Given the description of an element on the screen output the (x, y) to click on. 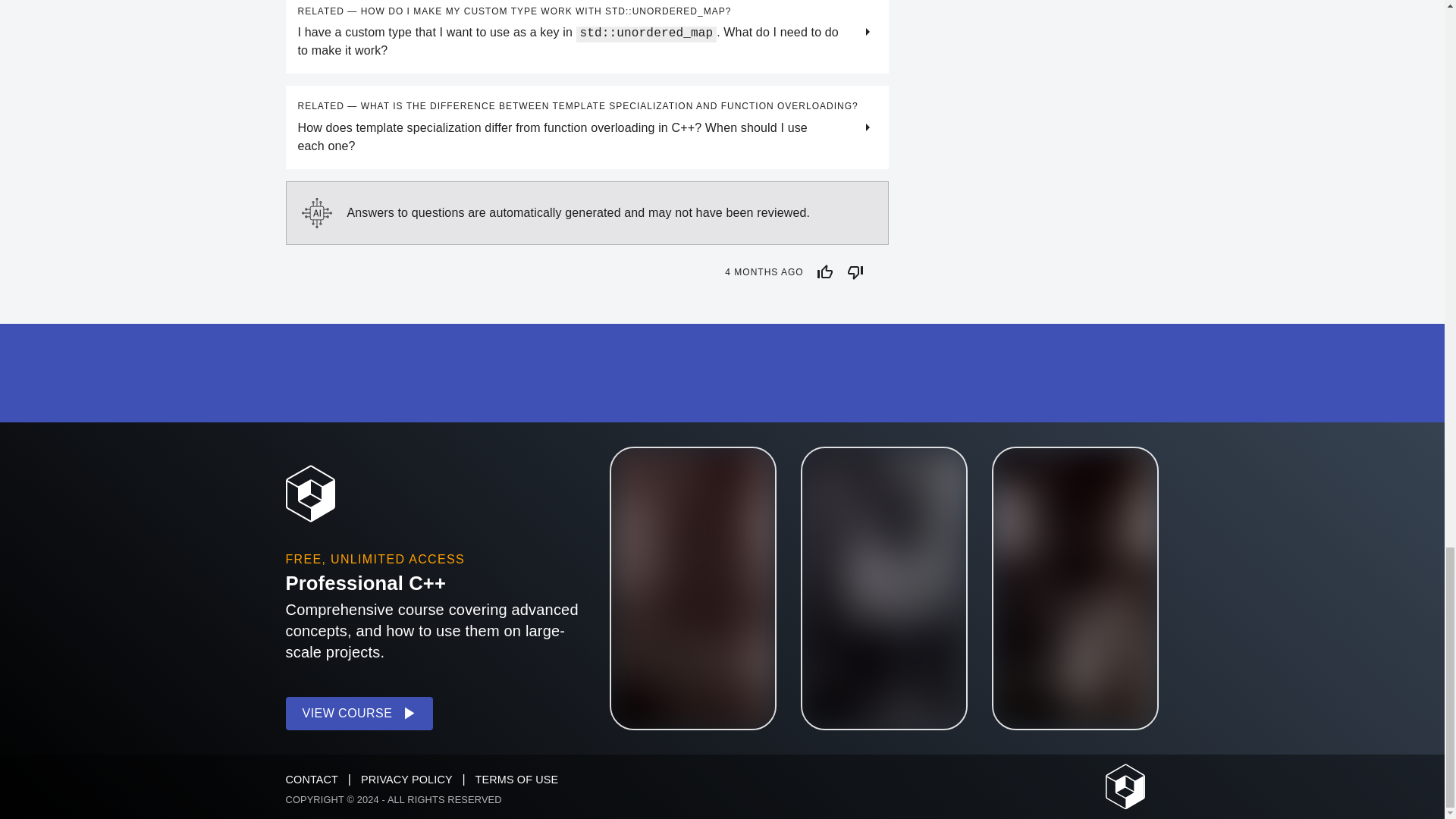
2024-03-22 (764, 271)
